Given the description of an element on the screen output the (x, y) to click on. 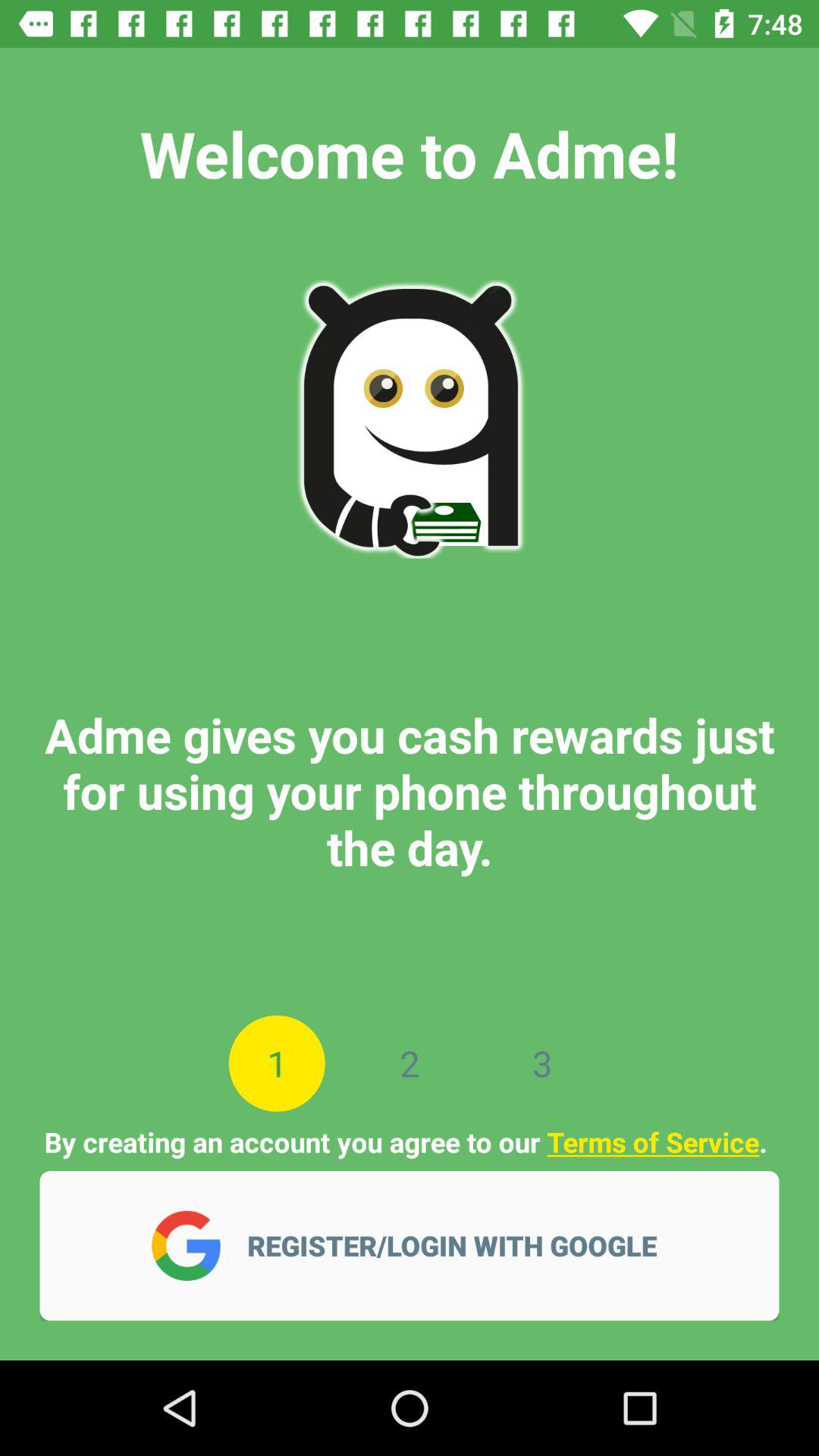
select the icon next to 3 item (409, 1063)
